Given the description of an element on the screen output the (x, y) to click on. 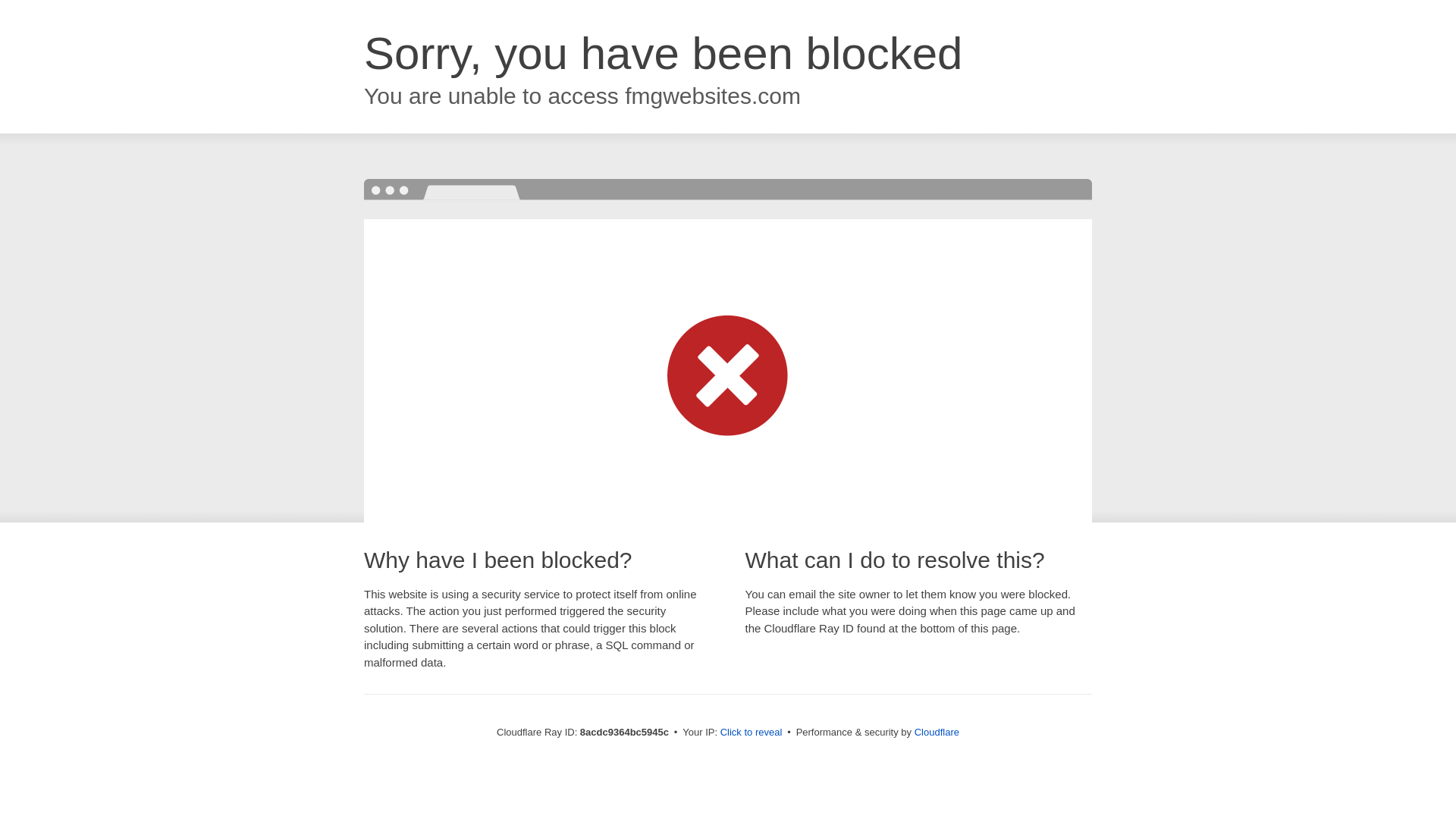
Click to reveal (751, 732)
Cloudflare (936, 731)
